Given the description of an element on the screen output the (x, y) to click on. 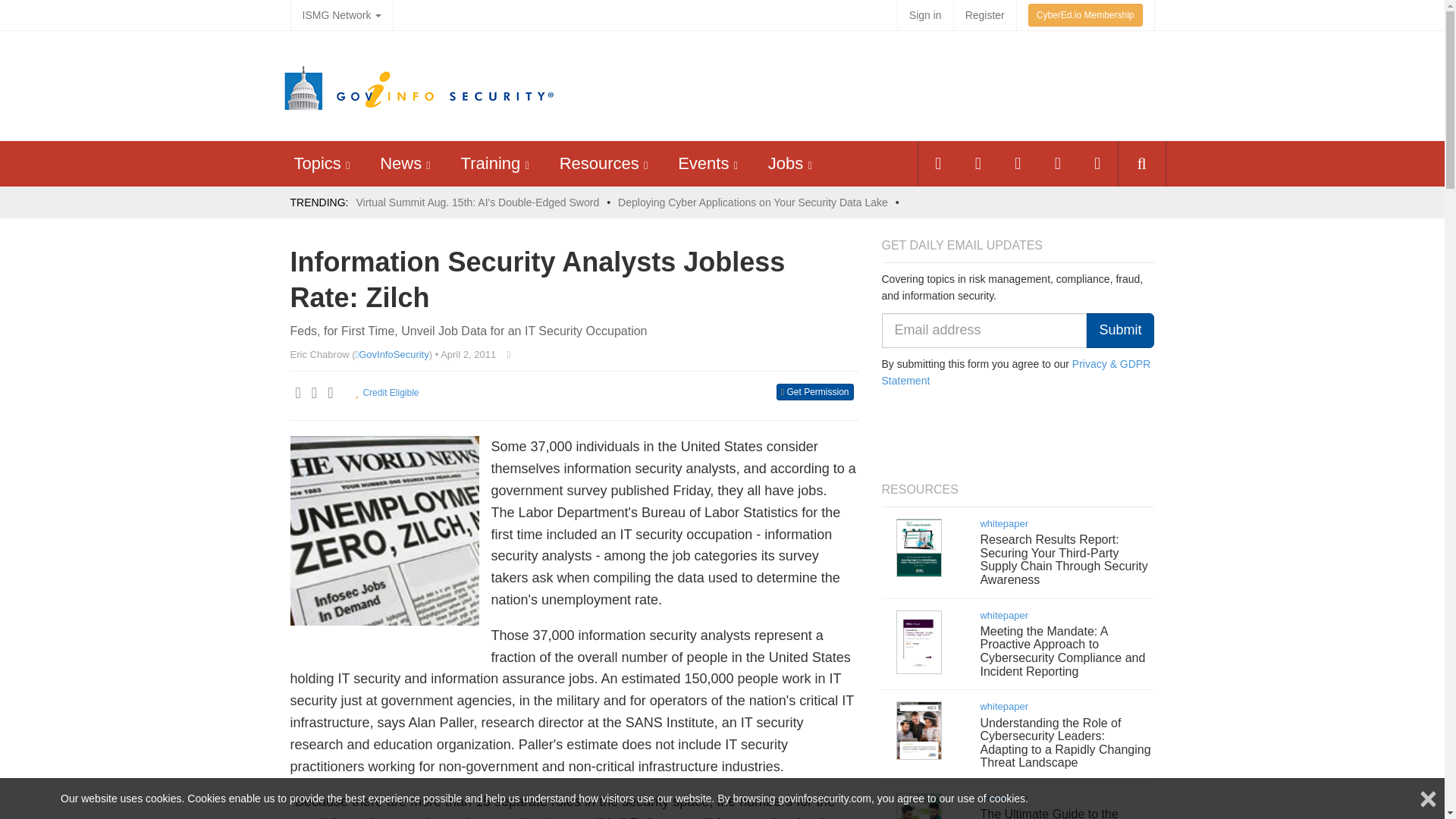
CyberEd.io Membership (1084, 15)
Sign in (925, 15)
ISMG Network (341, 15)
Topics (317, 162)
Register (984, 15)
